Given the description of an element on the screen output the (x, y) to click on. 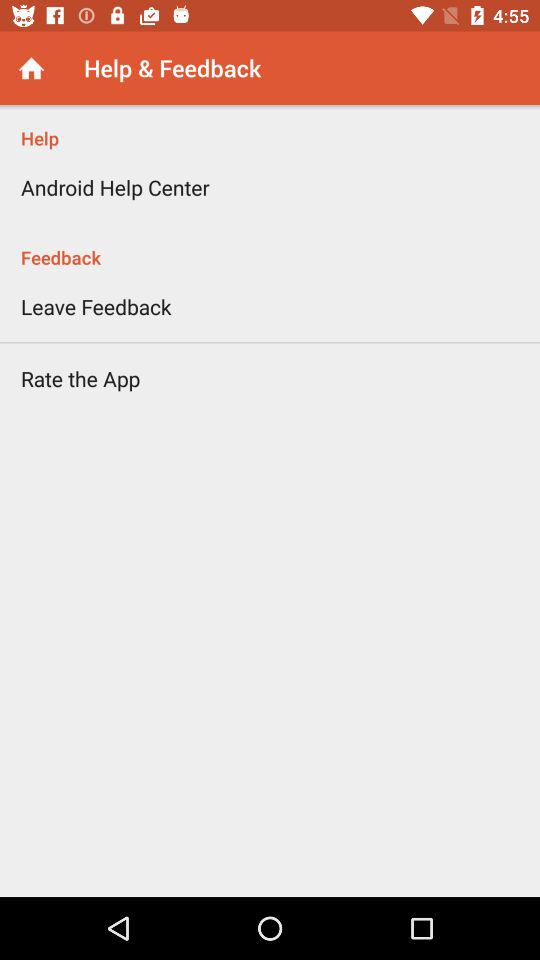
open item above the feedback icon (115, 187)
